Given the description of an element on the screen output the (x, y) to click on. 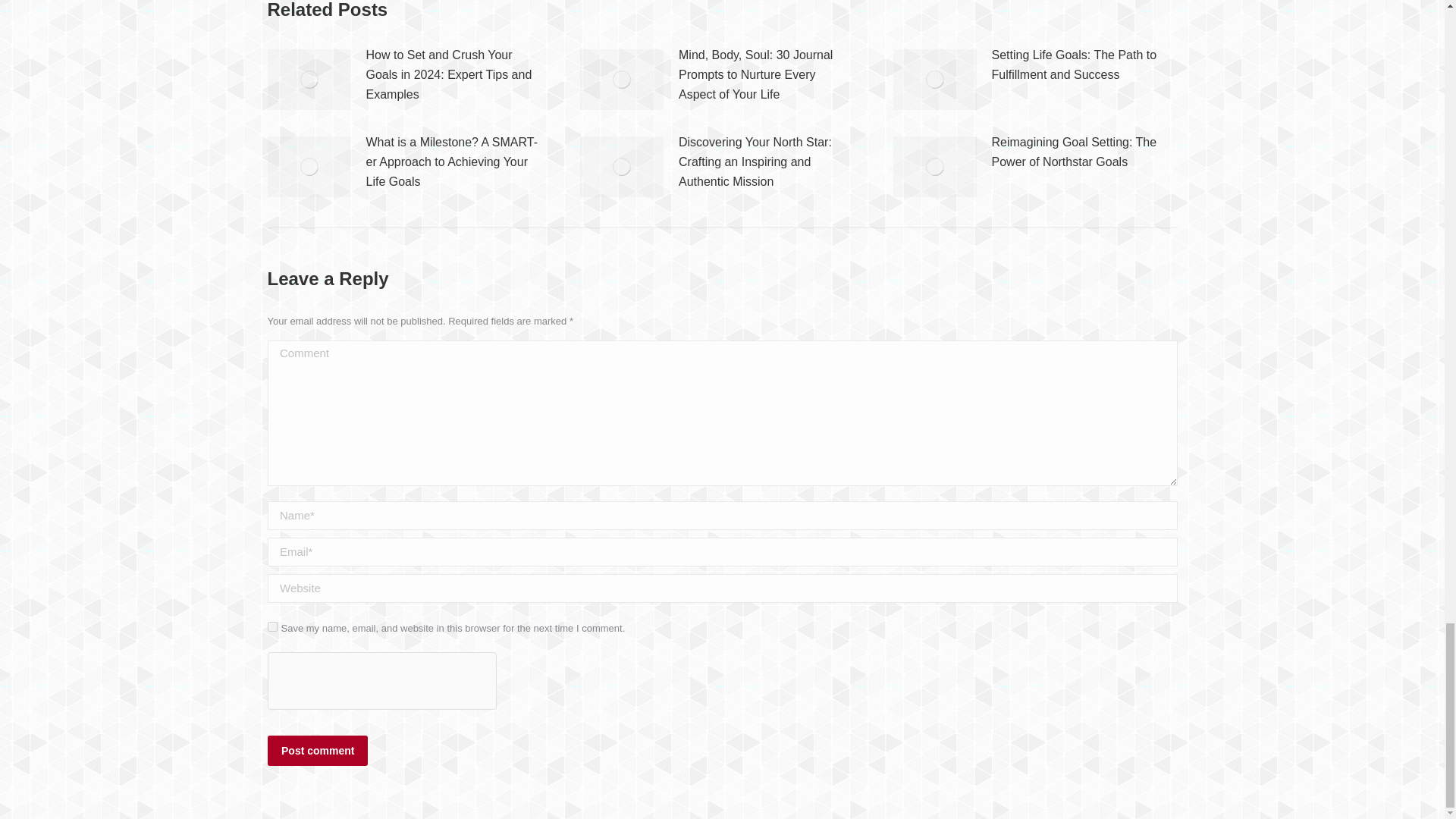
yes (271, 626)
